Given the description of an element on the screen output the (x, y) to click on. 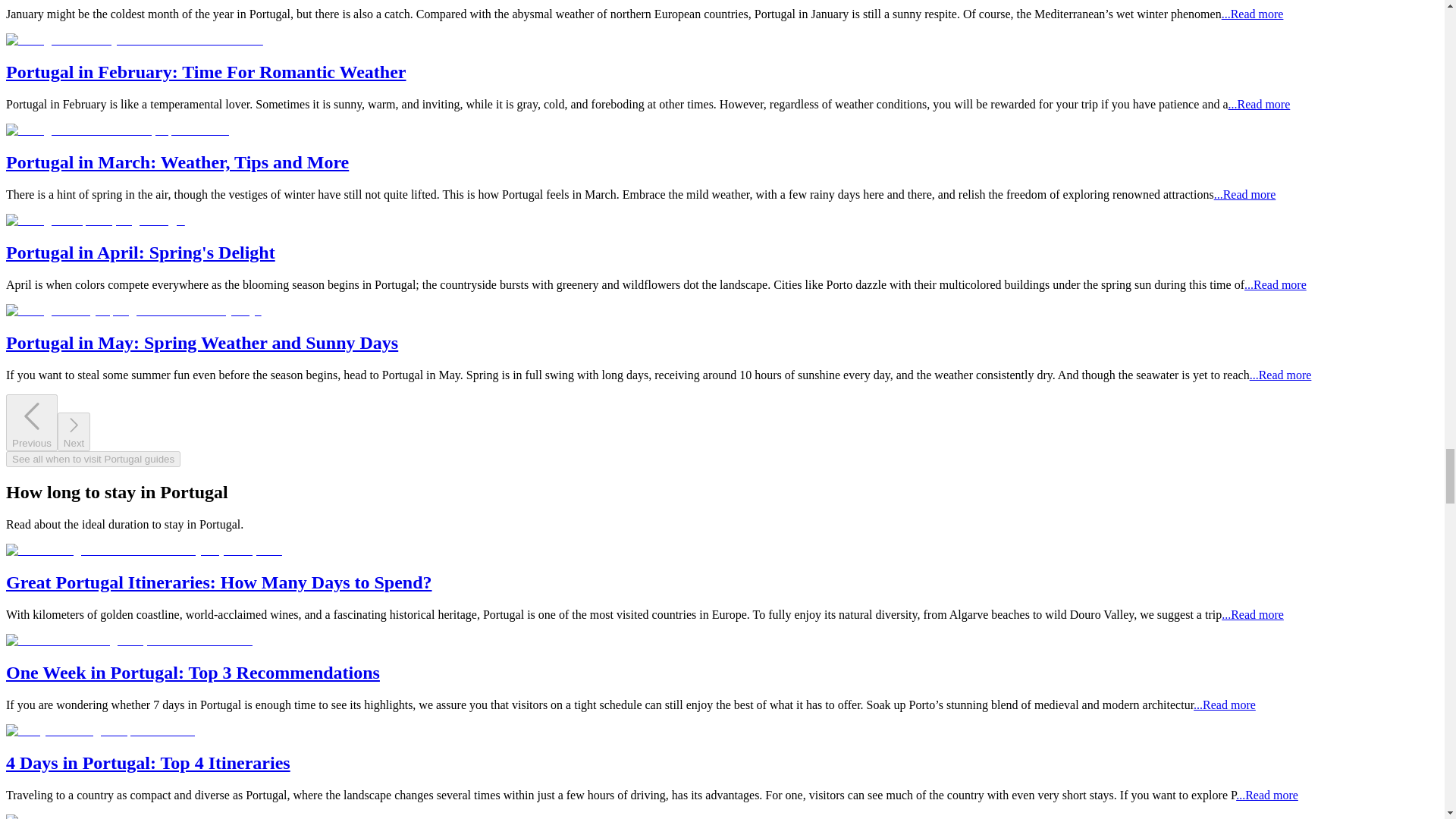
...Read more (1252, 13)
Portugal in February: Time For Romantic Weather (205, 71)
See all when to visit Portugal guides (92, 458)
...Read more (1259, 103)
